Given the description of an element on the screen output the (x, y) to click on. 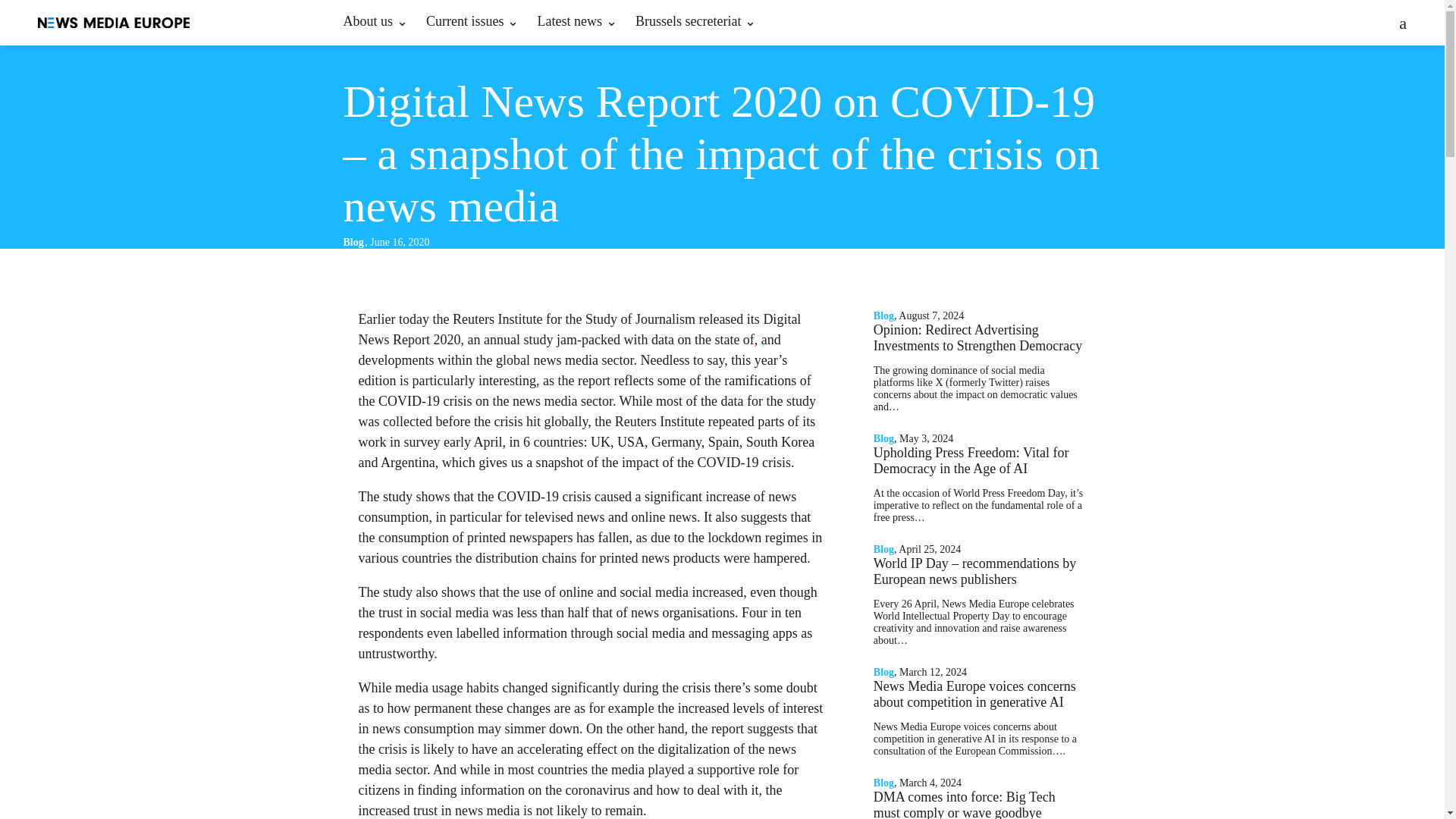
Digital News Report 2020 (579, 329)
News Media Europe (113, 22)
Latest news (576, 22)
Brussels secreteriat (694, 22)
About us (374, 22)
Blog (354, 242)
Current issues (472, 22)
More Articles in Blog (354, 242)
